Given the description of an element on the screen output the (x, y) to click on. 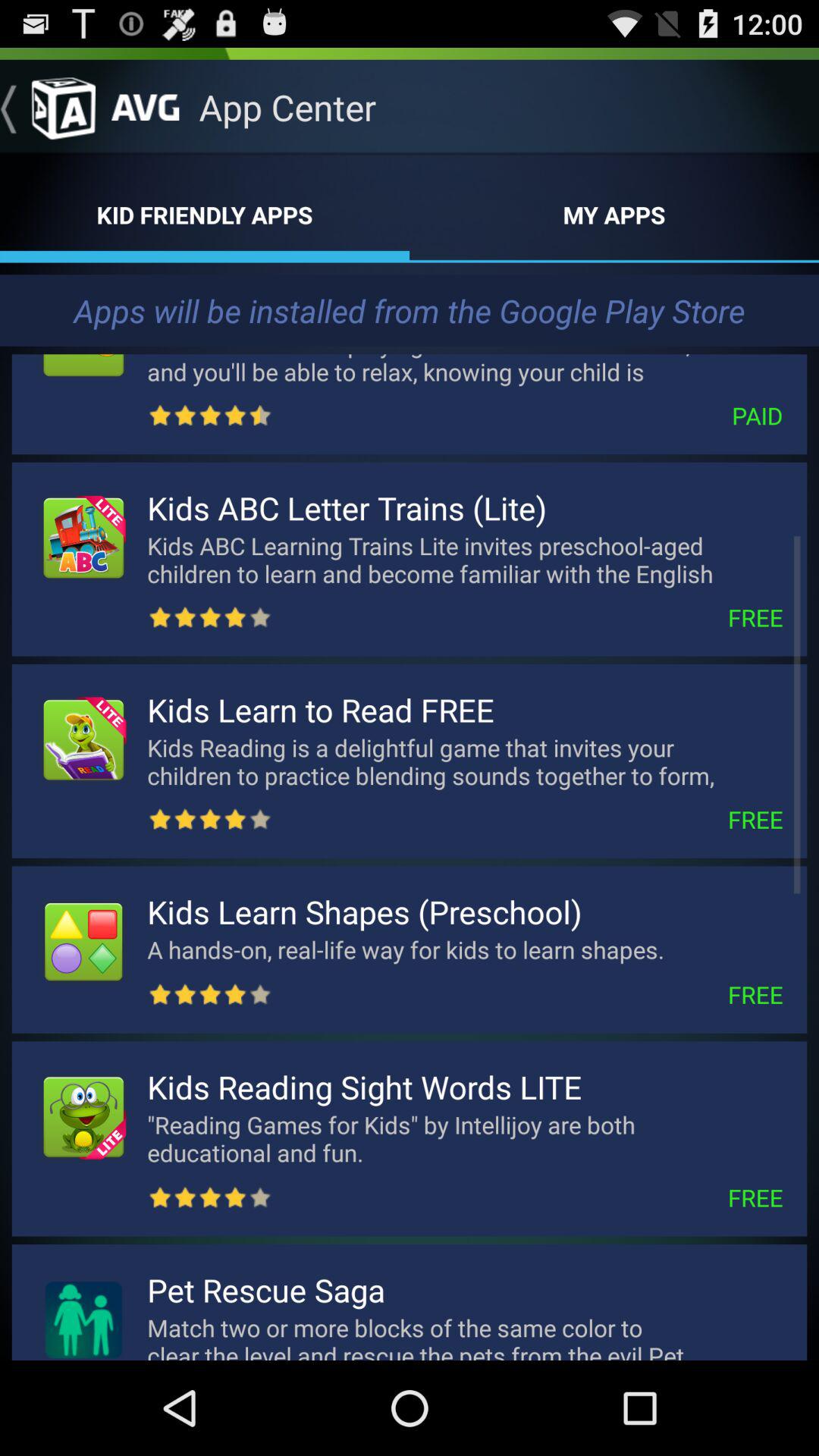
turn off the paid (527, 415)
